Given the description of an element on the screen output the (x, y) to click on. 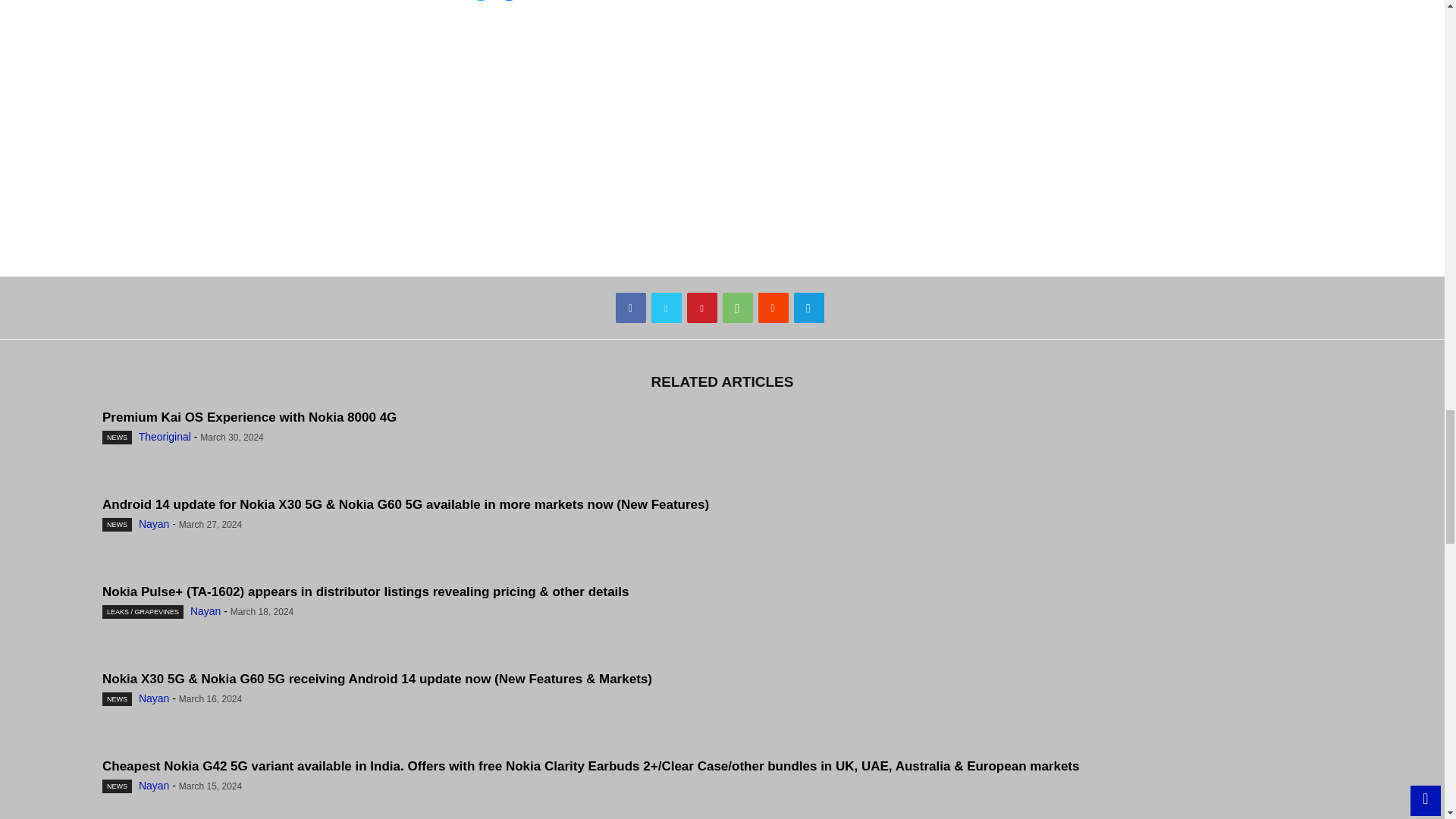
Pinterest (702, 307)
Nayan (153, 523)
Twitter (665, 307)
NEWS (116, 437)
Facebook (630, 307)
Theoriginal (164, 436)
ReddIt (773, 307)
Premium Kai OS Experience with Nokia 8000 4G (248, 417)
NEWS (116, 524)
Nayan (205, 611)
Telegram (808, 307)
WhatsApp (737, 307)
